Given the description of an element on the screen output the (x, y) to click on. 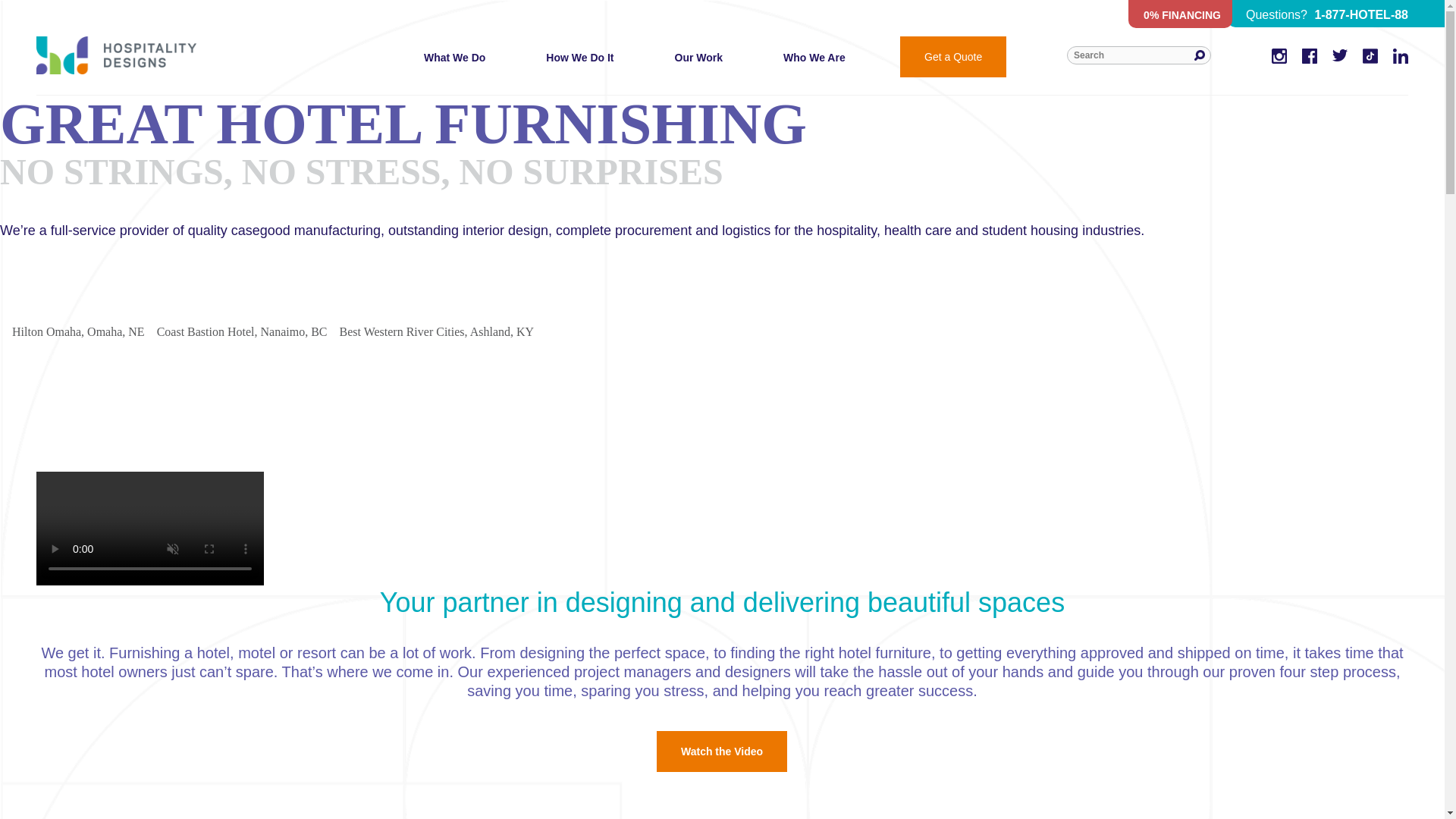
Coast Bastion Hotel, Nanaimo, BC (235, 320)
Hilton Omaha, Omaha, NE (72, 320)
How We Do It (579, 74)
Best Western River Cities, Ashland, KY (430, 320)
Watch the Video (721, 751)
Get a Quote (952, 56)
1-877-HOTEL-88 (1358, 14)
